Given the description of an element on the screen output the (x, y) to click on. 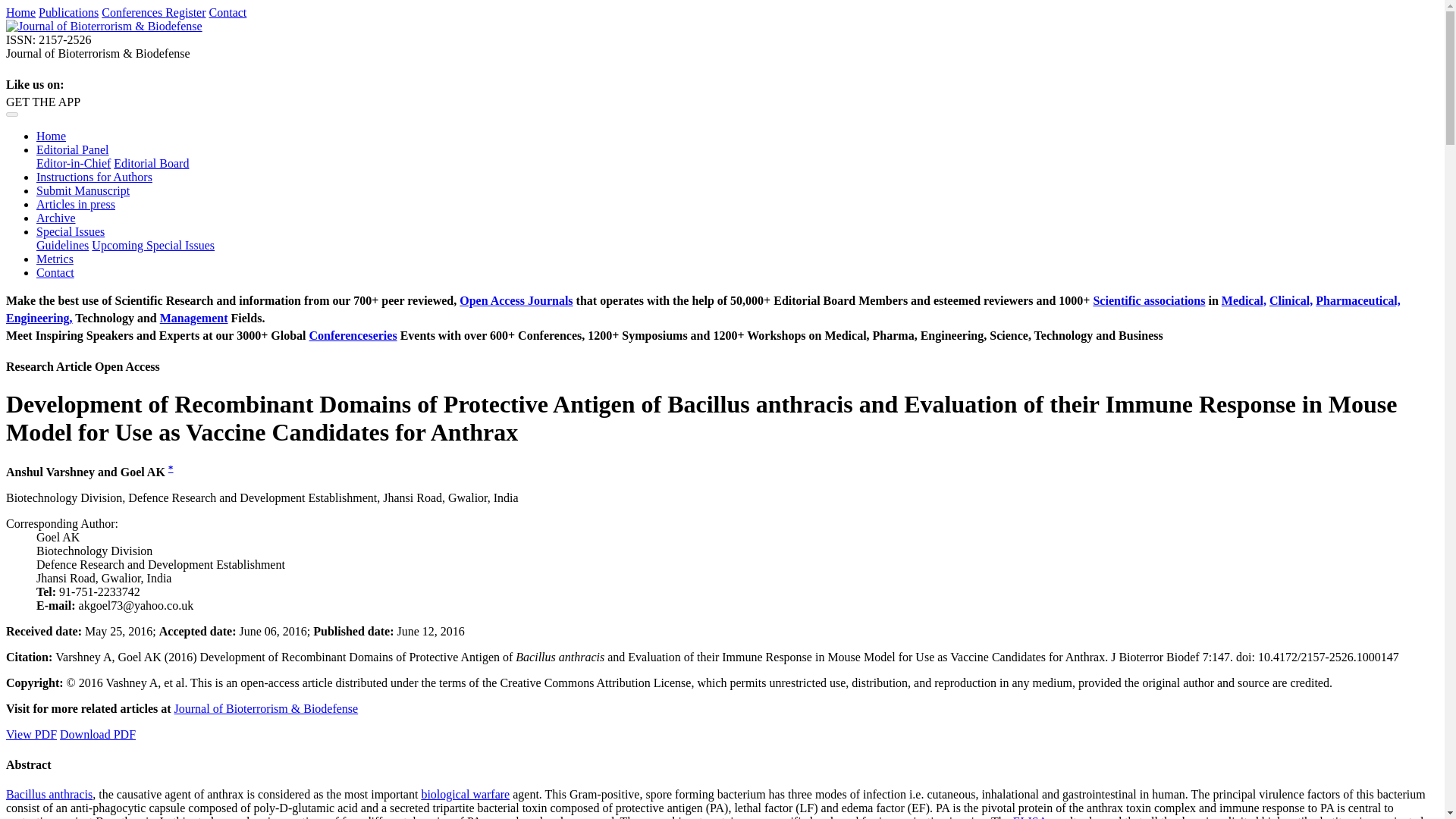
Open Access Journals (516, 300)
Upcoming Special Issues (152, 245)
Contact (228, 11)
Archive (55, 217)
Articles in press (75, 204)
Guidelines (62, 245)
Contact (55, 272)
OMICS Group Conferences (133, 11)
Register (185, 11)
Scientific associations (1149, 300)
Instructions for Authors (94, 176)
Editor-in-Chief (73, 163)
Submit Manuscript (82, 190)
Home (50, 135)
Publications (69, 11)
